Given the description of an element on the screen output the (x, y) to click on. 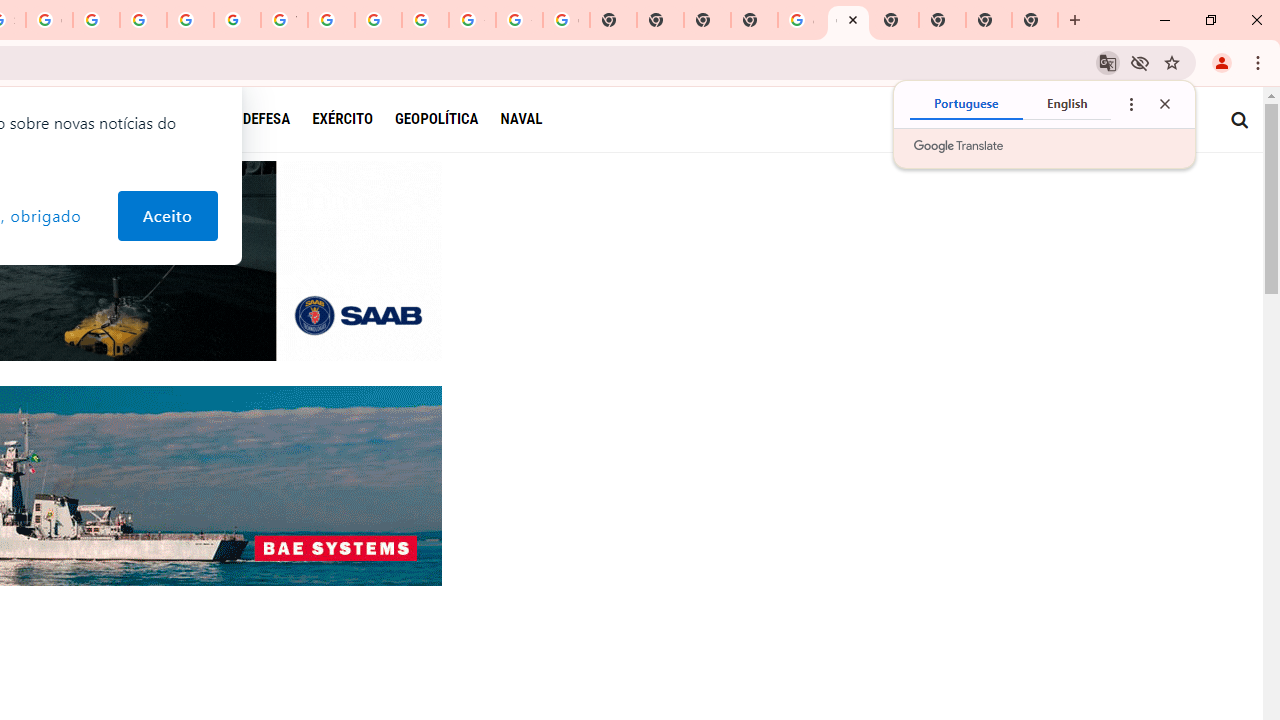
YouTube (284, 20)
Portuguese (966, 103)
AutomationID: menu-item-105101 (447, 119)
NAVAL (521, 117)
AutomationID: menu-item-105105 (277, 119)
